Given the description of an element on the screen output the (x, y) to click on. 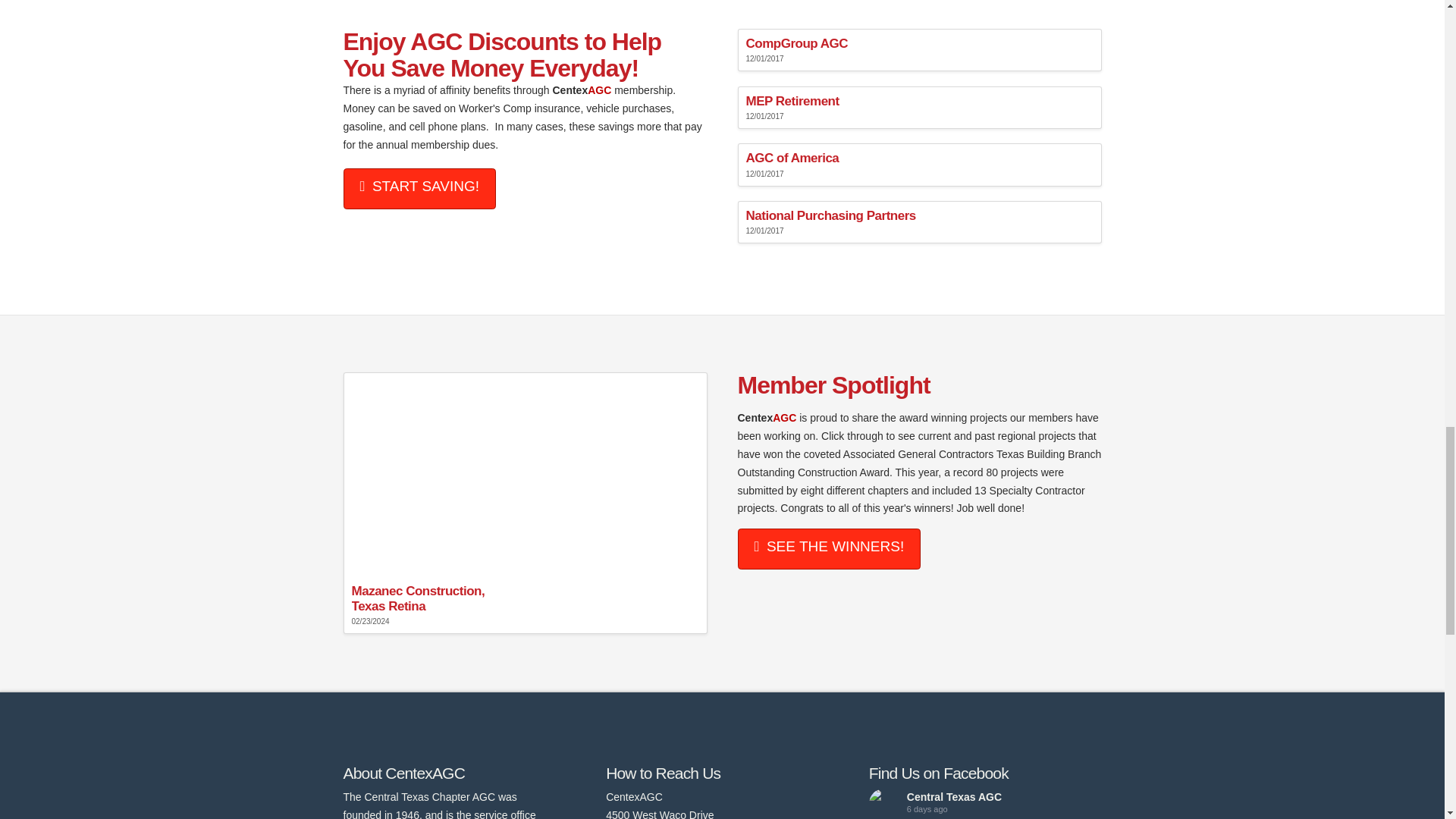
Permalink to: "CompGroup AGC" (918, 49)
Permalink to: "AGC of America" (918, 164)
Title (419, 188)
Permalink to: "National Purchasing Partners" (918, 221)
Title (828, 548)
Permalink to: "MEP Retirement" (918, 107)
Permalink to: "Mazanec Construction, Texas Retina" (524, 502)
